Given the description of an element on the screen output the (x, y) to click on. 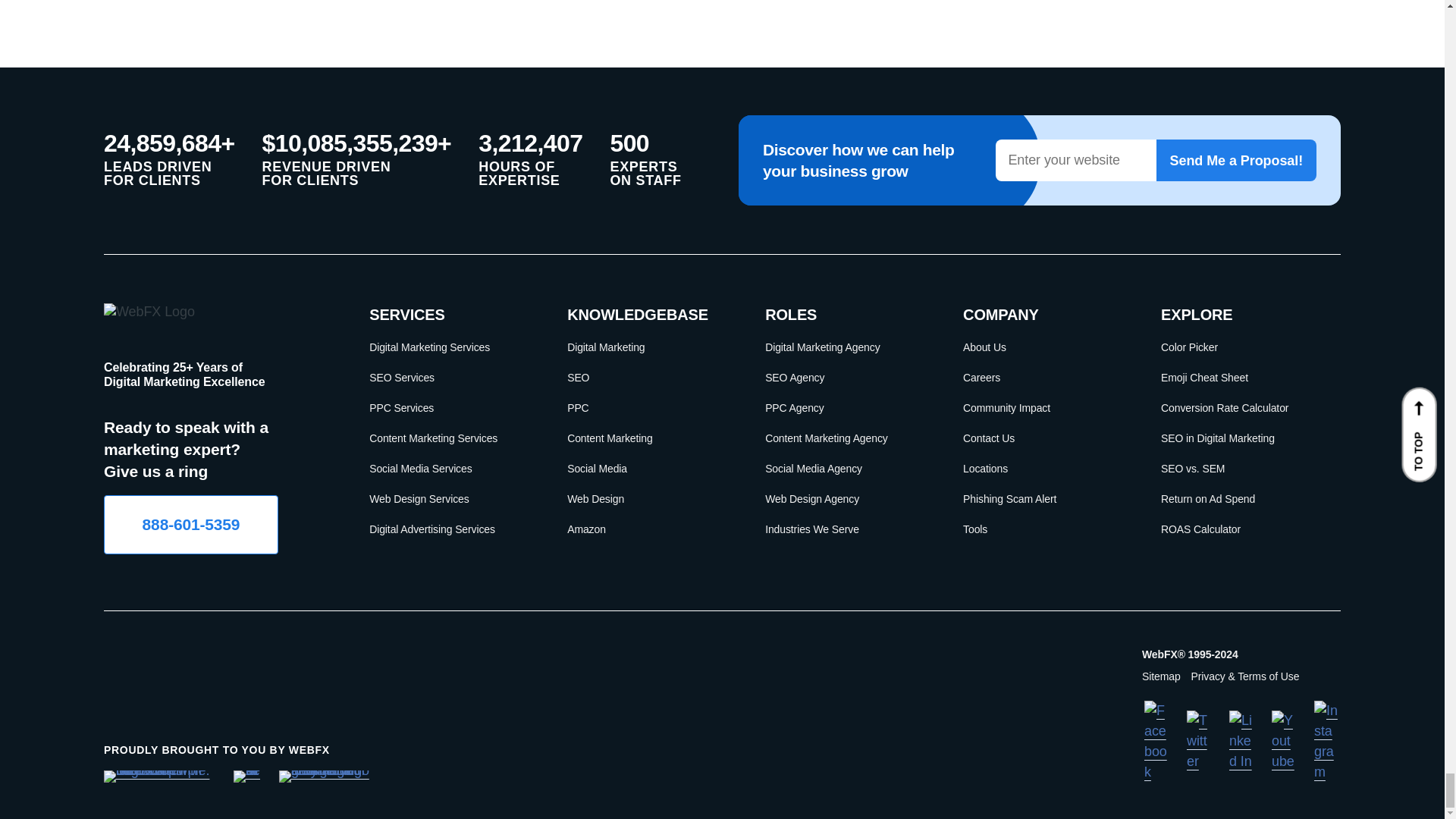
Learn PPC with free resources (648, 407)
View plans and pricing (450, 407)
View plans and pricing (450, 377)
View plans and pricing (450, 438)
View plans and pricing (450, 468)
Learn SEO with free resources (648, 377)
View plans and pricing (450, 498)
Learn digital marketing with free resources (648, 347)
Learn web design with free resources (648, 498)
View plans and pricing (450, 529)
Learn content marketing with free resources (648, 438)
View plans and pricing (450, 347)
Learn social media with free resources (648, 468)
